Given the description of an element on the screen output the (x, y) to click on. 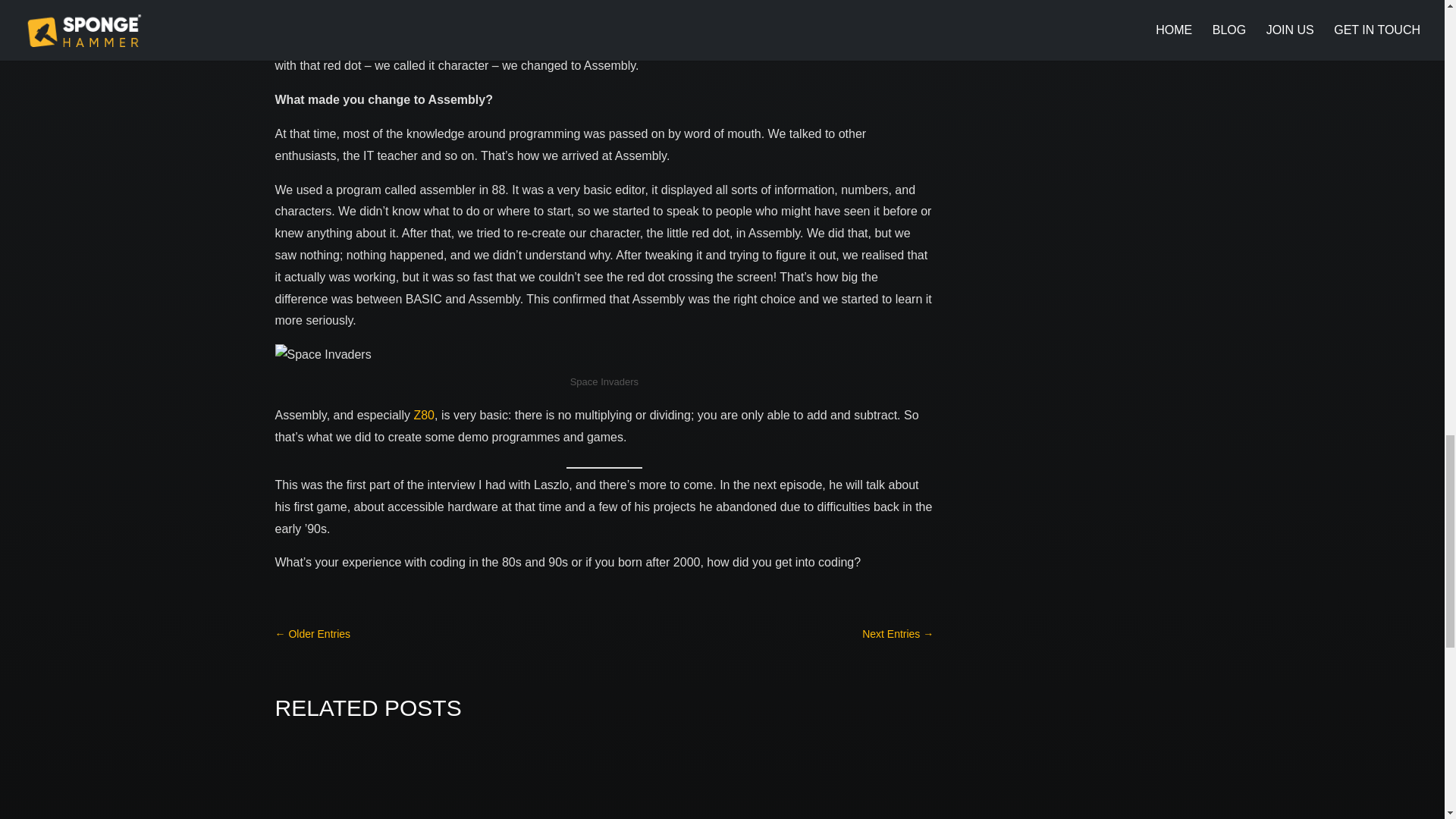
Hello World! (399, 10)
Z80 (423, 414)
